Given the description of an element on the screen output the (x, y) to click on. 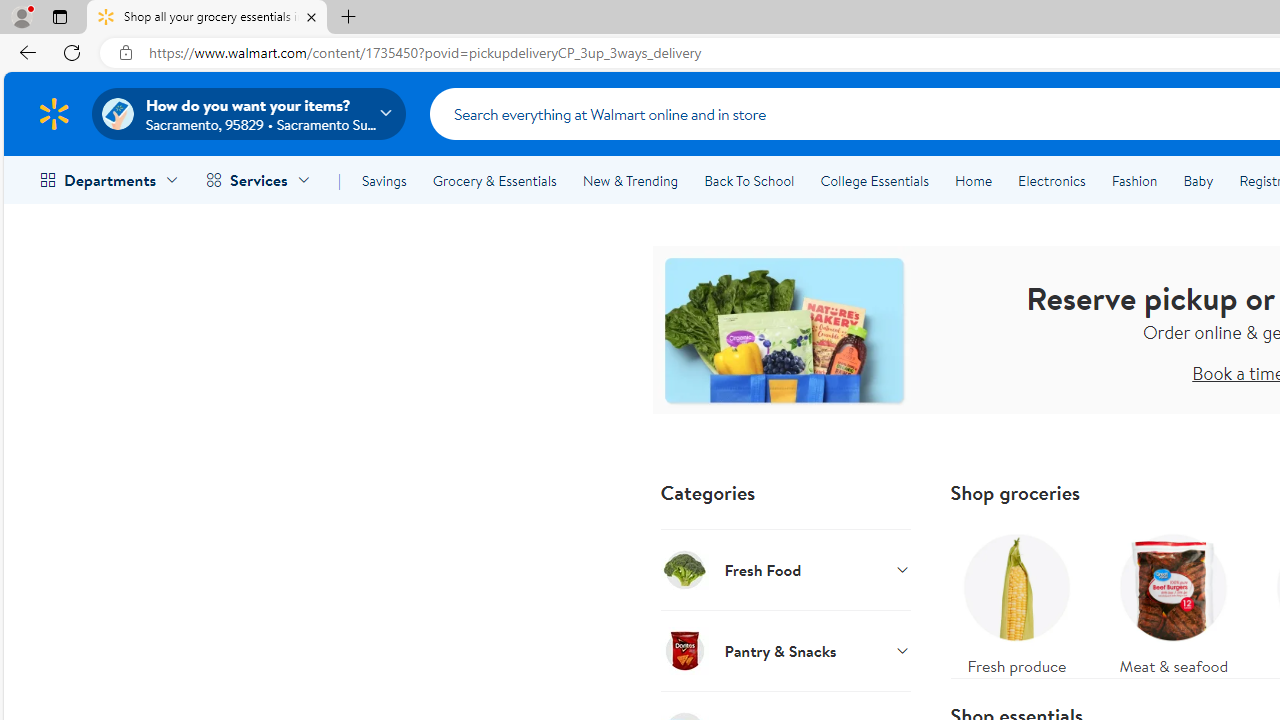
Back To School (749, 180)
Back To School (749, 180)
Grocery & Essentials (493, 180)
Baby (1197, 180)
New & Trending (630, 180)
College Essentials (874, 180)
